Given the description of an element on the screen output the (x, y) to click on. 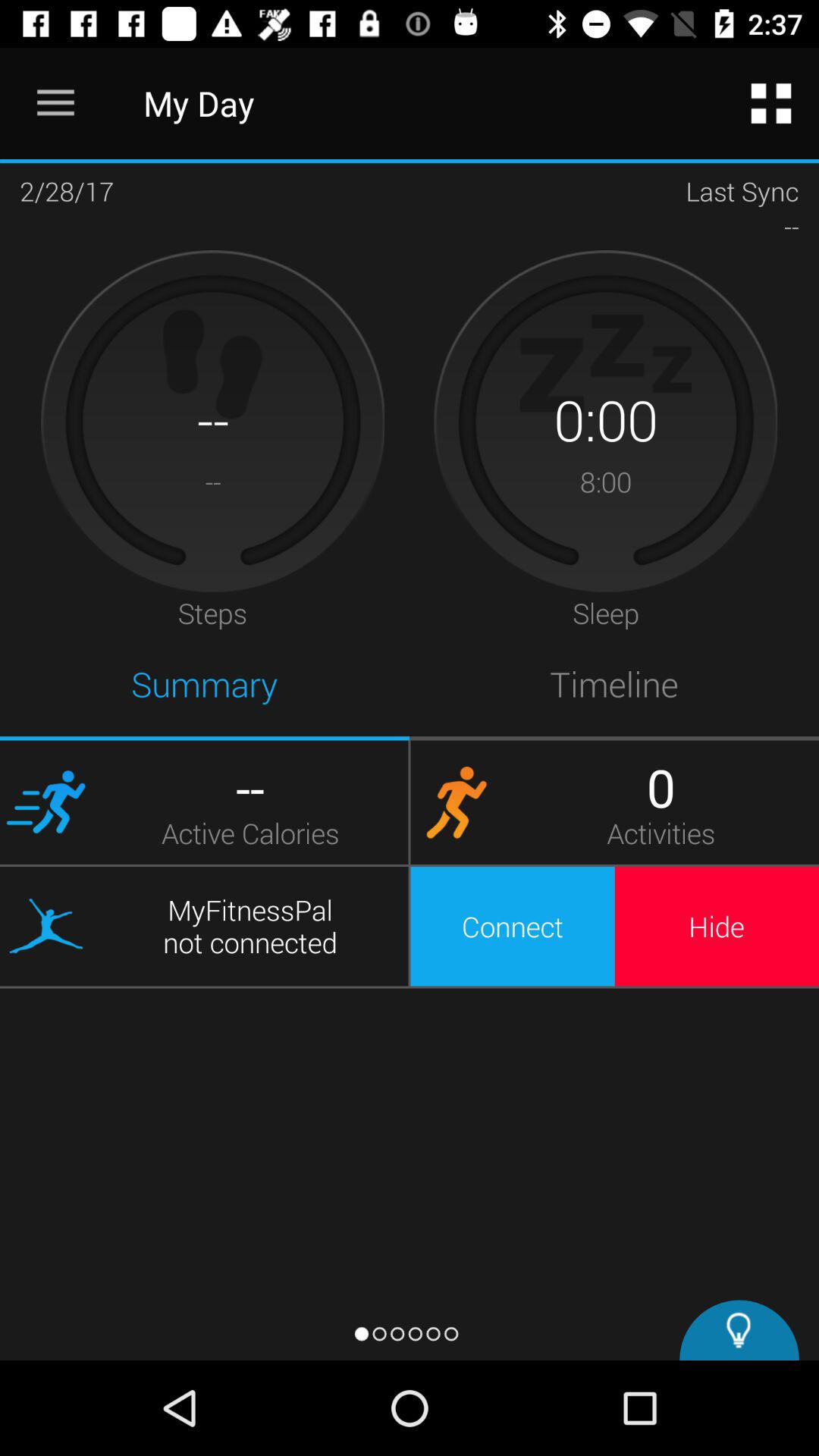
enter connect right to hide (513, 926)
